Given the description of an element on the screen output the (x, y) to click on. 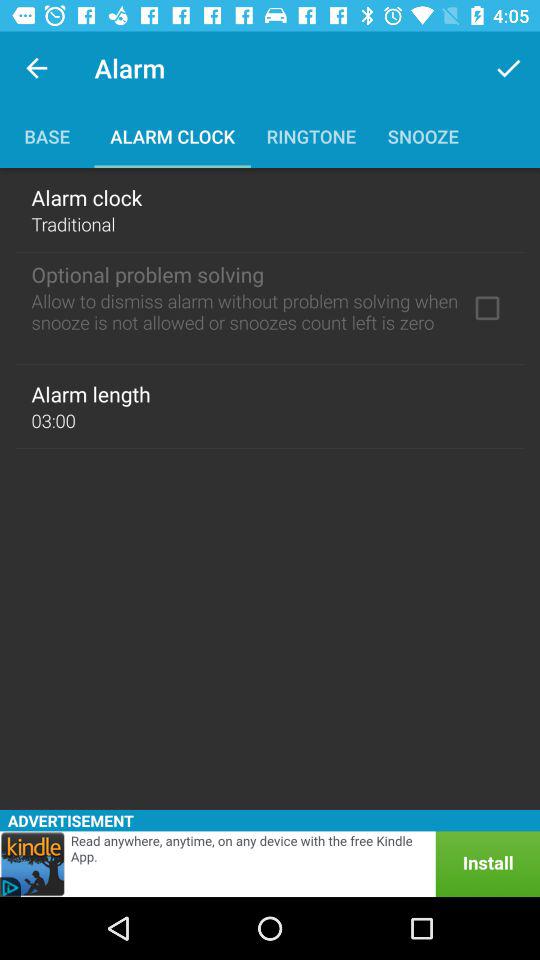
toggle dismiss alarm if no snoozes are left (487, 308)
